Given the description of an element on the screen output the (x, y) to click on. 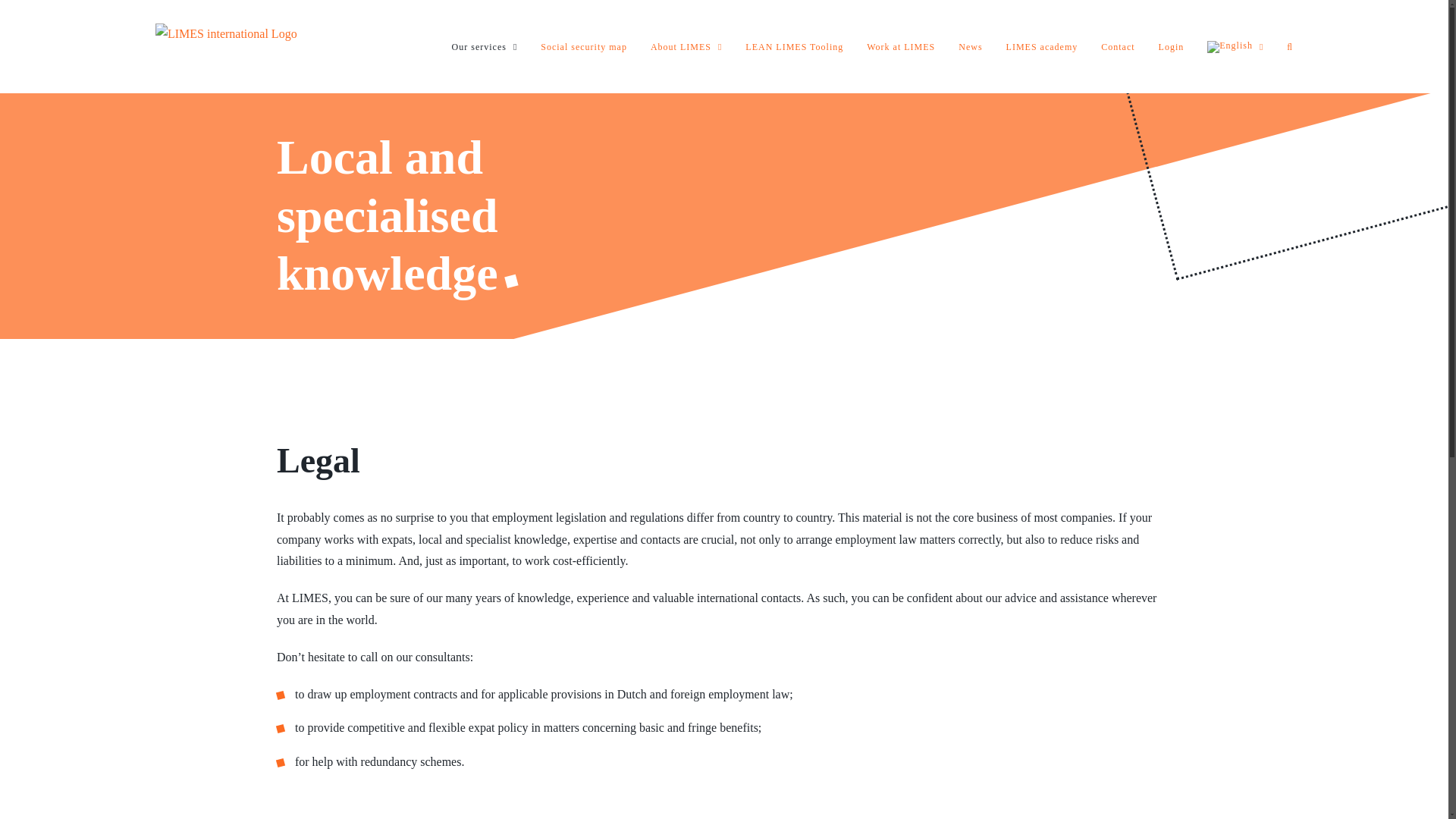
LEAN LIMES Tooling (794, 46)
Social security map (583, 46)
